Given the description of an element on the screen output the (x, y) to click on. 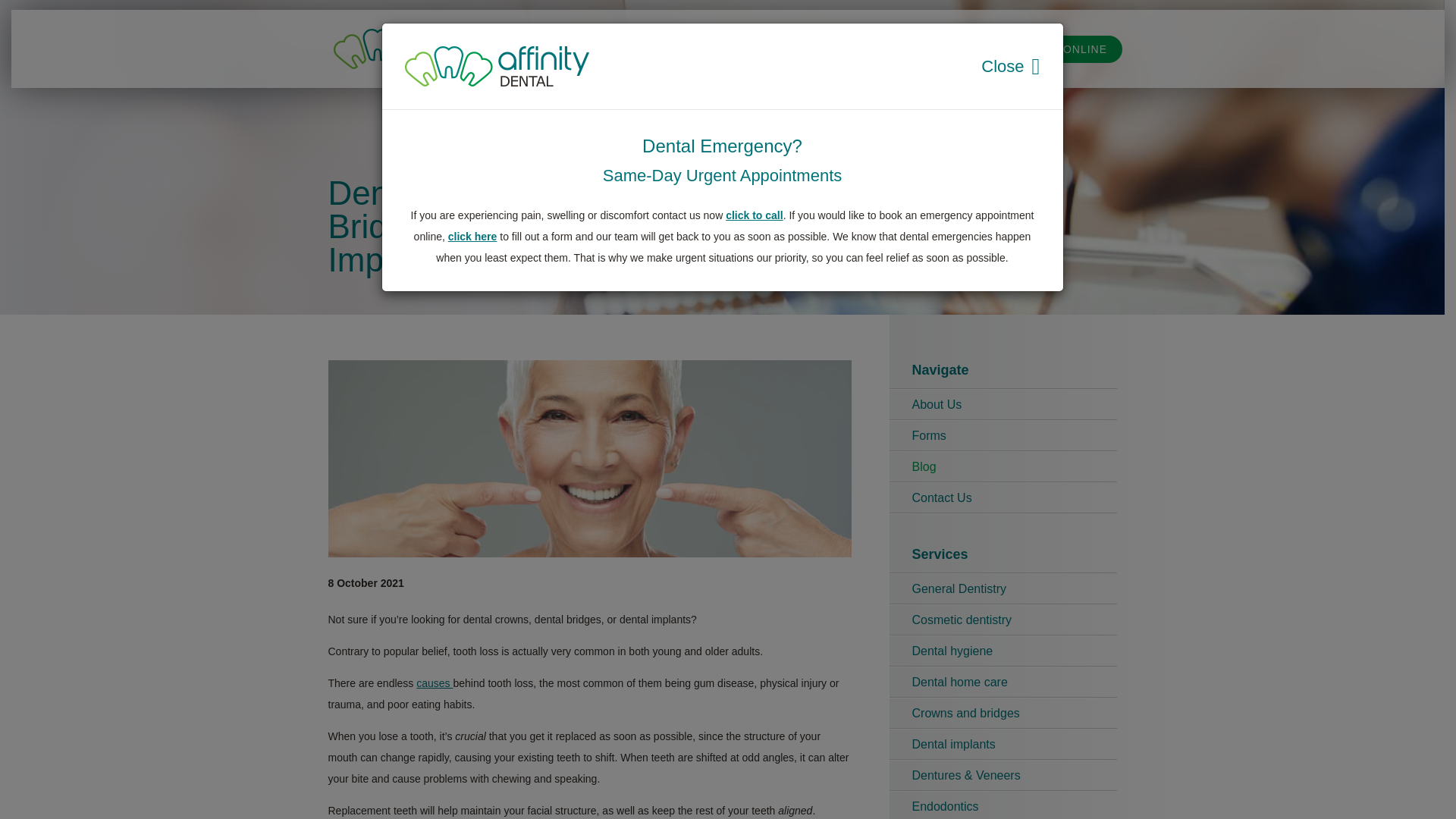
Contact Us (1002, 498)
Contact (965, 48)
Blog (1002, 467)
Services (735, 48)
Forms (798, 48)
General Dentistry (1002, 589)
Events (904, 48)
BOOK ONLINE (1066, 48)
About (674, 48)
About Us (1002, 404)
Forms (1002, 435)
causes (434, 683)
